Given the description of an element on the screen output the (x, y) to click on. 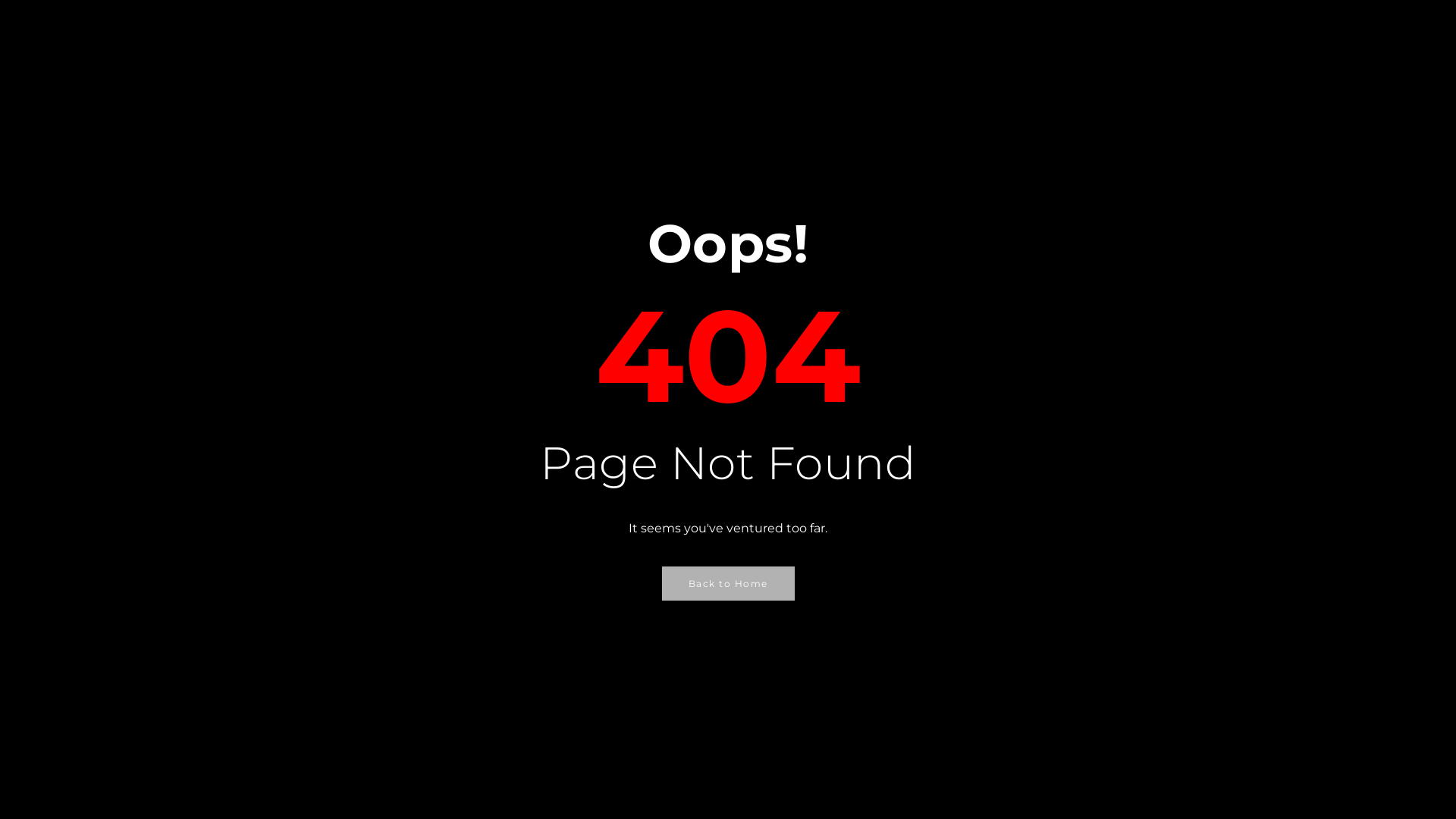
Back to Home Element type: text (727, 583)
